Given the description of an element on the screen output the (x, y) to click on. 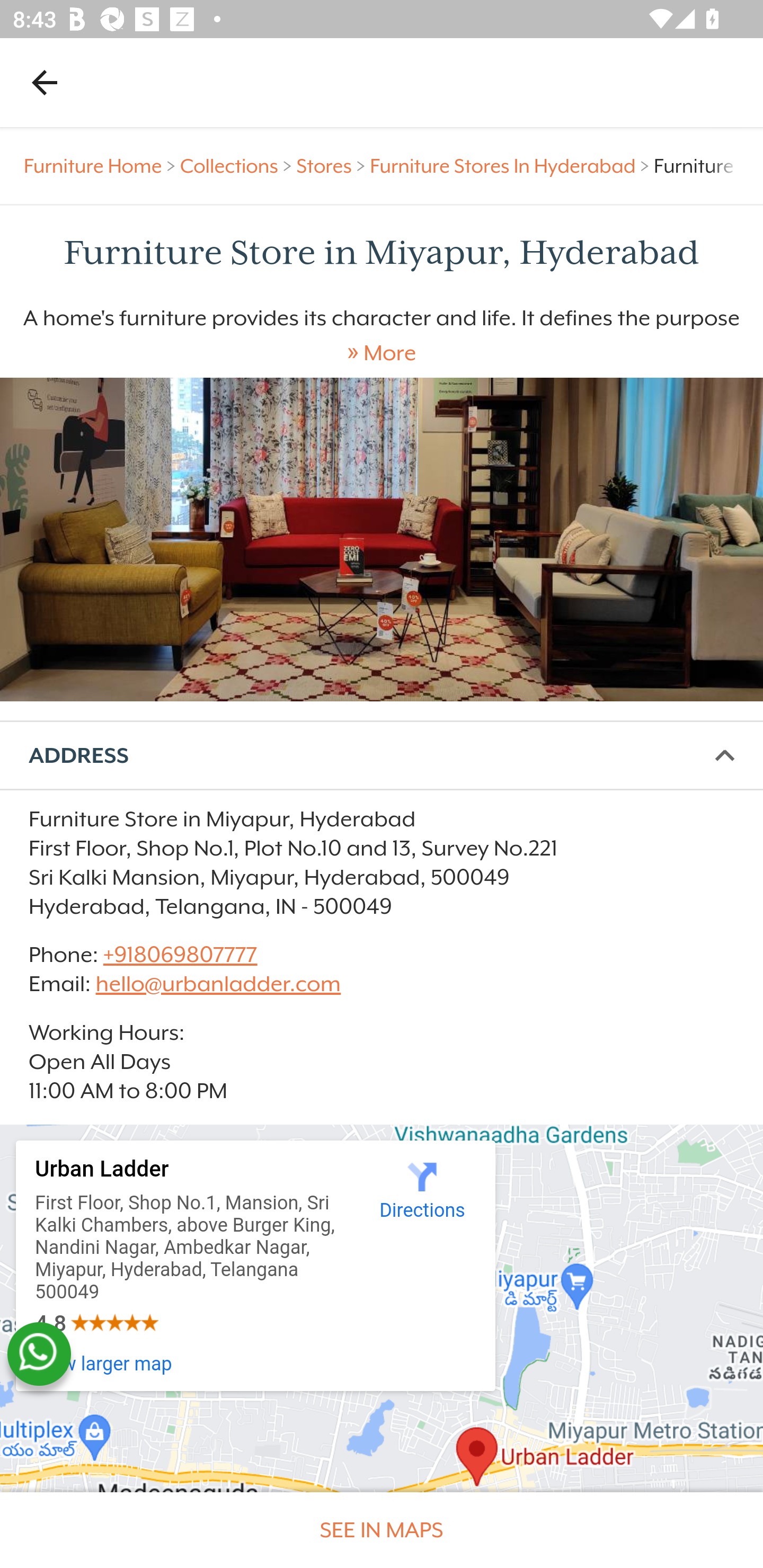
Navigate up (44, 82)
Furniture Home >  Furniture Home  >  (102, 165)
Collections >  Collections  >  (238, 165)
Stores >  Stores  >  (333, 165)
» More (381, 353)
Experience Centre (381, 539)
ADDRESS (381, 756)
+918069807777 (179, 953)
hello@urbanladder.com (218, 983)
whatsapp (38, 1353)
View larger map (104, 1363)
SEE IN MAPS (381, 1530)
